Given the description of an element on the screen output the (x, y) to click on. 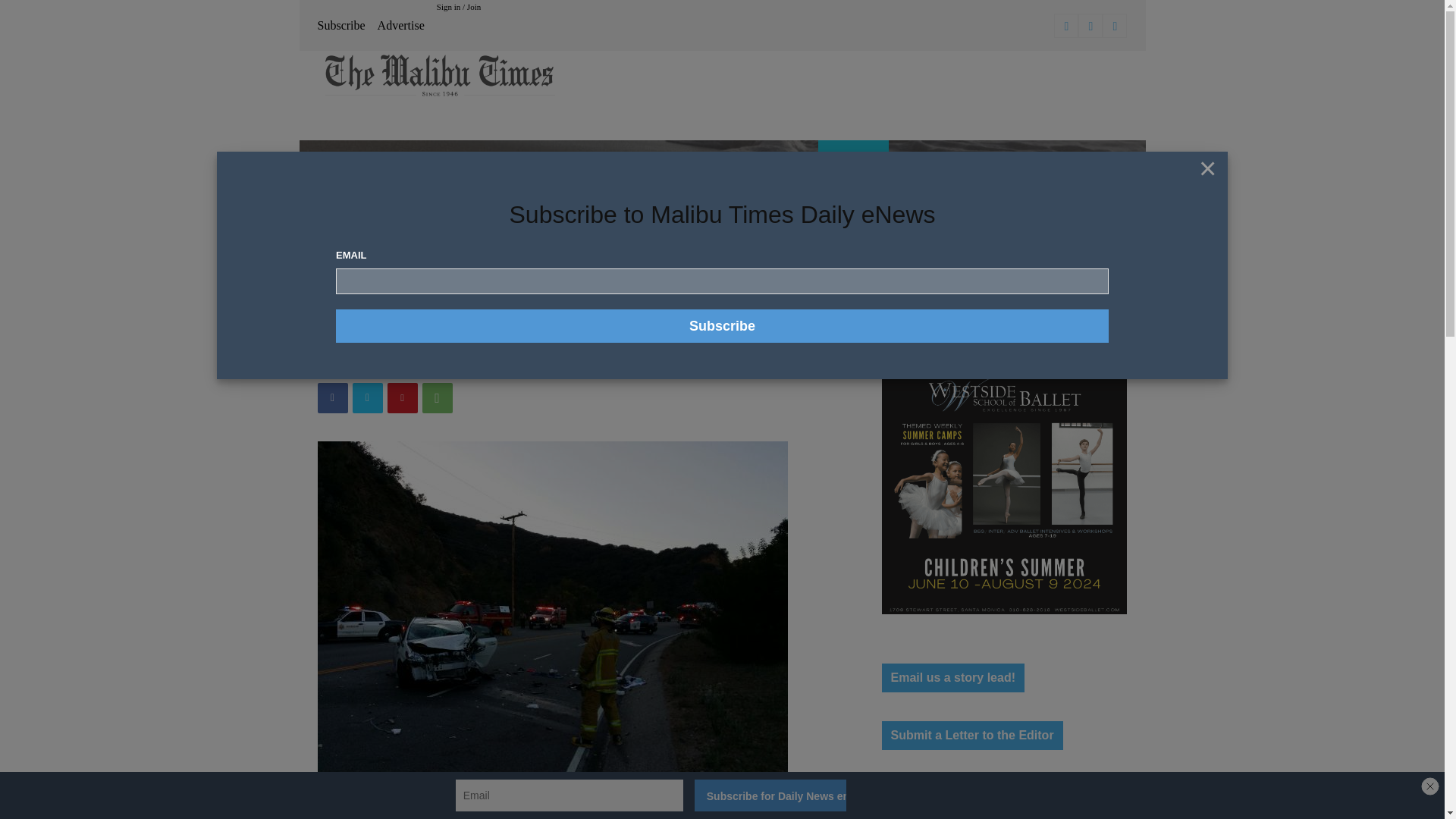
Facebook (1066, 25)
Subscribe for Daily News email (769, 795)
Twitter (1114, 25)
Facebook (332, 398)
Pinterest (401, 398)
View all posts in News (367, 236)
Twitter (366, 398)
WhatsApp (436, 398)
Subscribe (722, 326)
Search (1099, 264)
Instagram (1090, 25)
